Given the description of an element on the screen output the (x, y) to click on. 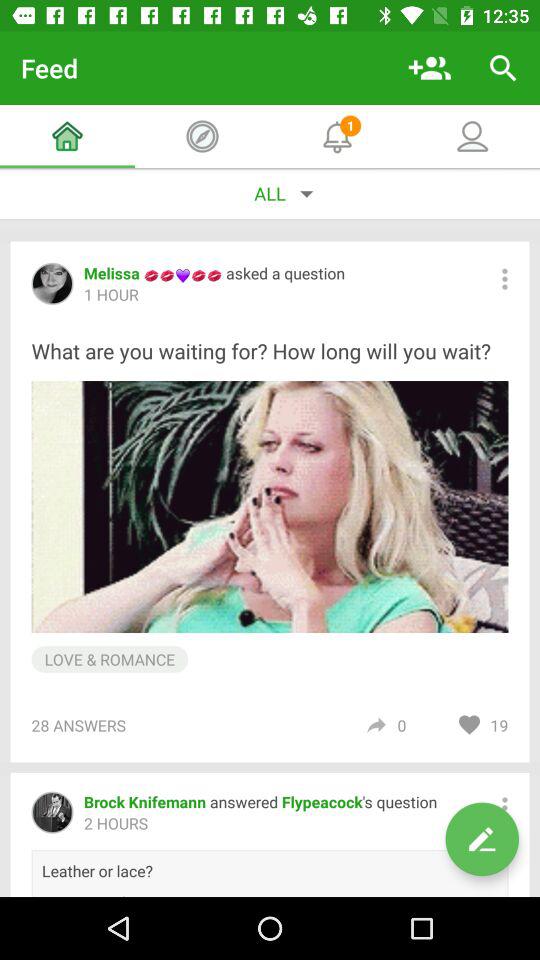
click on the  more option beside the  text asked a question (504, 279)
click on arrow (376, 725)
select the icon which is beside the home (202, 137)
select add people icon on a page (430, 68)
select the profile icon on the top right side of the page (472, 137)
